Given the description of an element on the screen output the (x, y) to click on. 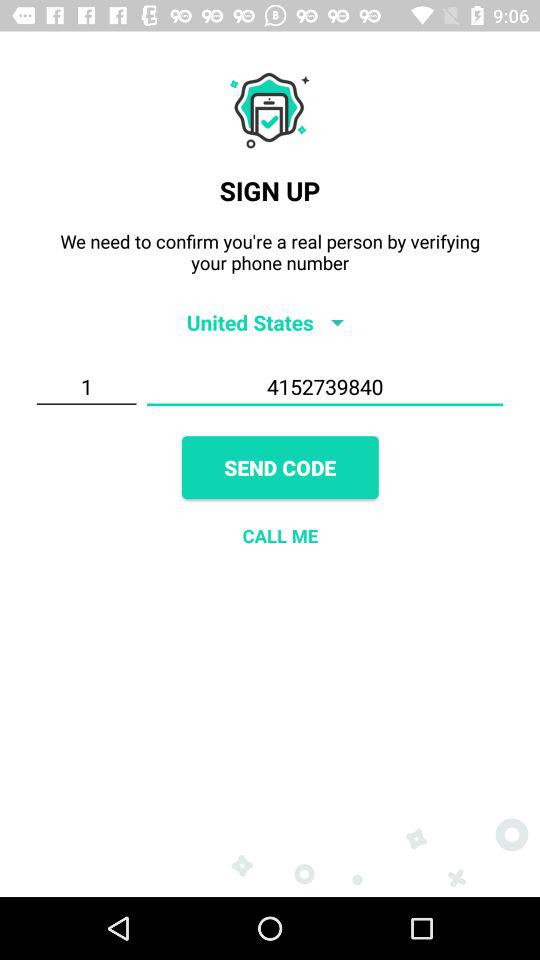
scroll to the 1 item (86, 387)
